Given the description of an element on the screen output the (x, y) to click on. 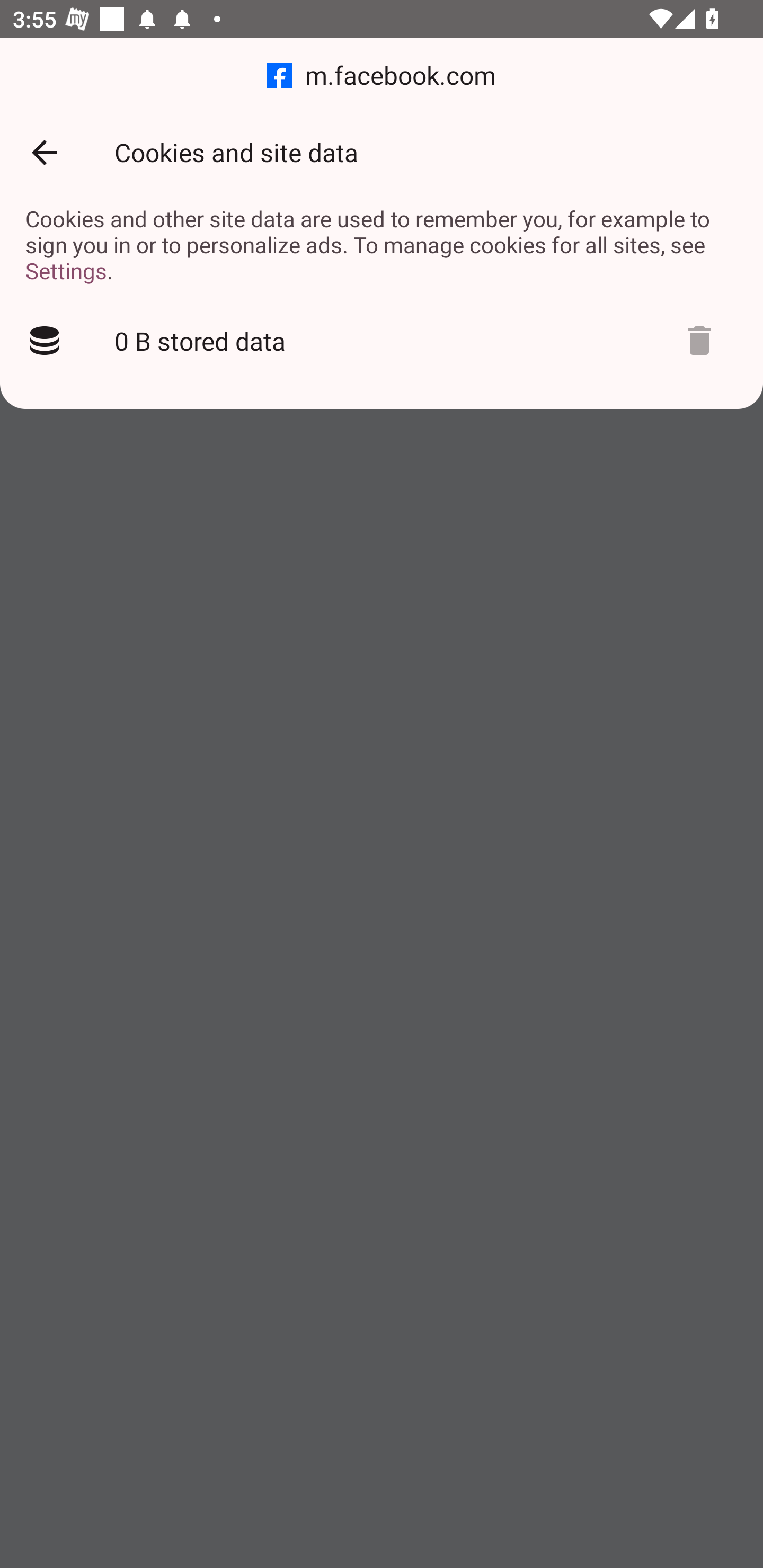
m.facebook.com (381, 75)
Back (44, 152)
0 B stored data Delete cookies? (381, 340)
